Given the description of an element on the screen output the (x, y) to click on. 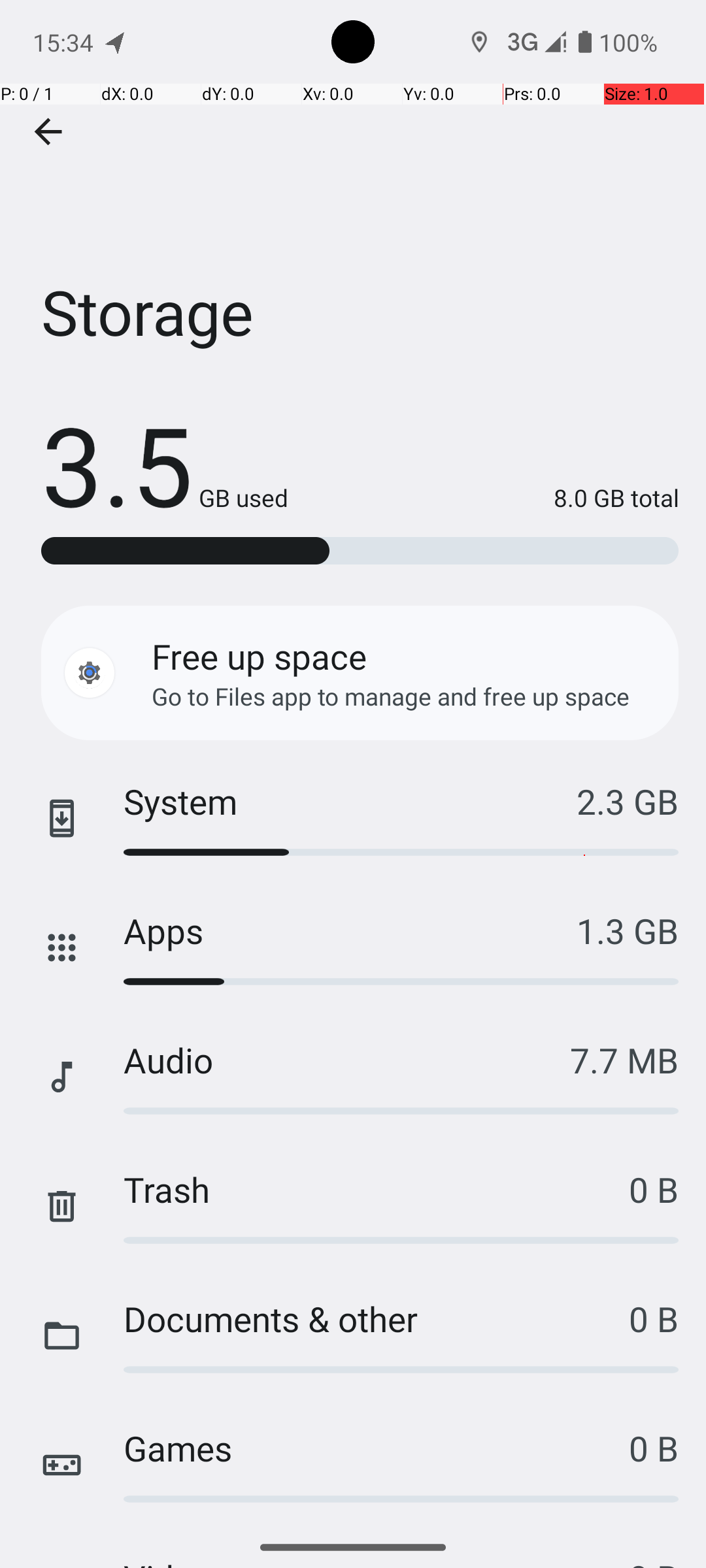
3.5 GB used Element type: android.widget.TextView (164, 463)
8.0 GB total Element type: android.widget.TextView (483, 497)
Free up space Element type: android.widget.TextView (258, 656)
Go to Files app to manage and free up space Element type: android.widget.TextView (390, 695)
2.3 GB Element type: android.widget.TextView (627, 801)
1.3 GB Element type: android.widget.TextView (627, 930)
7.7 MB Element type: android.widget.TextView (624, 1059)
Trash Element type: android.widget.TextView (375, 1189)
0 B Element type: android.widget.TextView (653, 1189)
Documents & other Element type: android.widget.TextView (375, 1318)
Games Element type: android.widget.TextView (375, 1447)
